Given the description of an element on the screen output the (x, y) to click on. 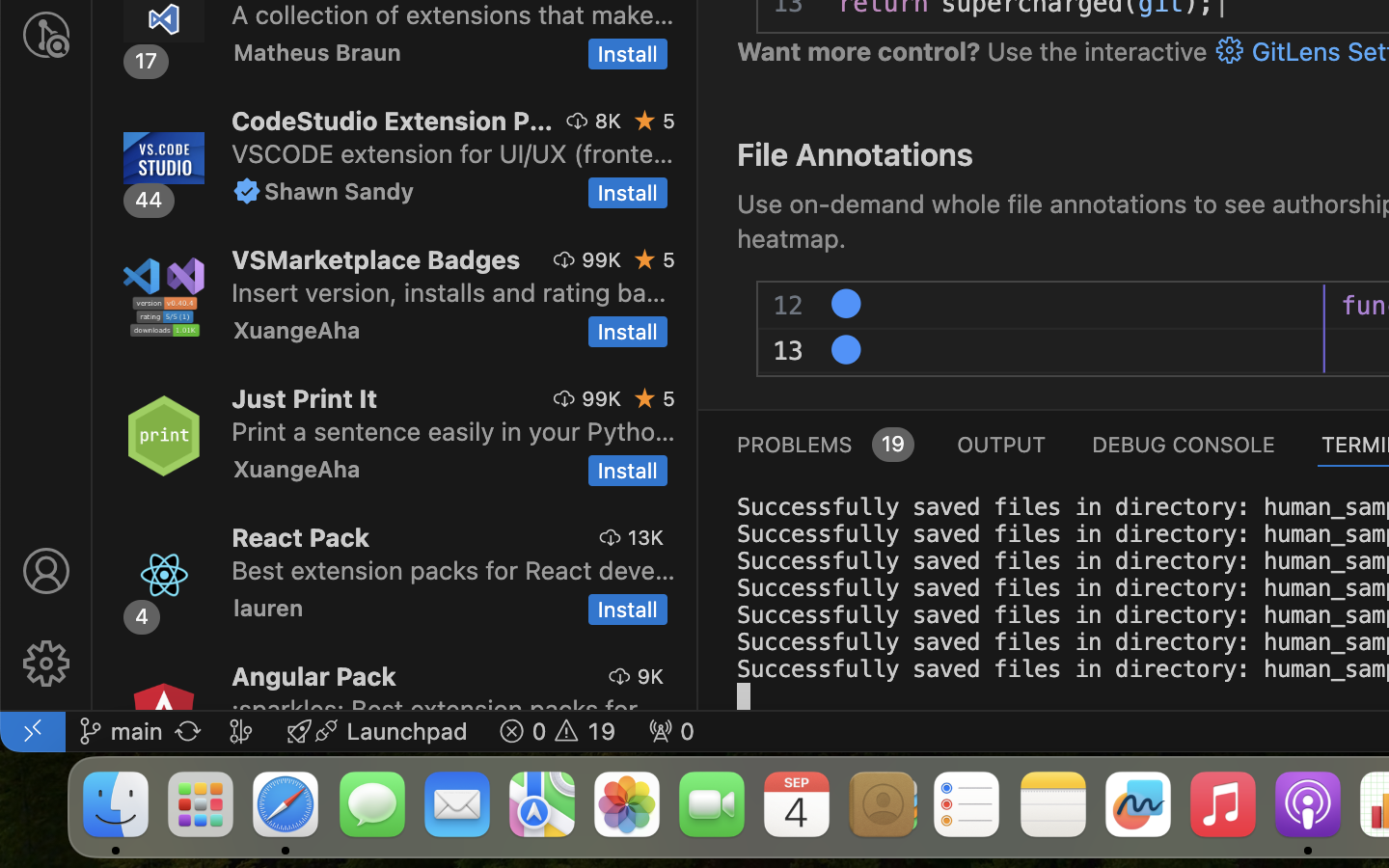
Want more control? Element type: AXStaticText (858, 51)
File Annotations Element type: AXStaticText (855, 154)
 Element type: AXStaticText (1229, 50)
Insert version, installs and rating badges for VSMarketplace extensions easily to your HTML or Markdown pages. Element type: AXStaticText (449, 291)
CodeStudio Extension Pack Element type: AXStaticText (392, 120)
